Given the description of an element on the screen output the (x, y) to click on. 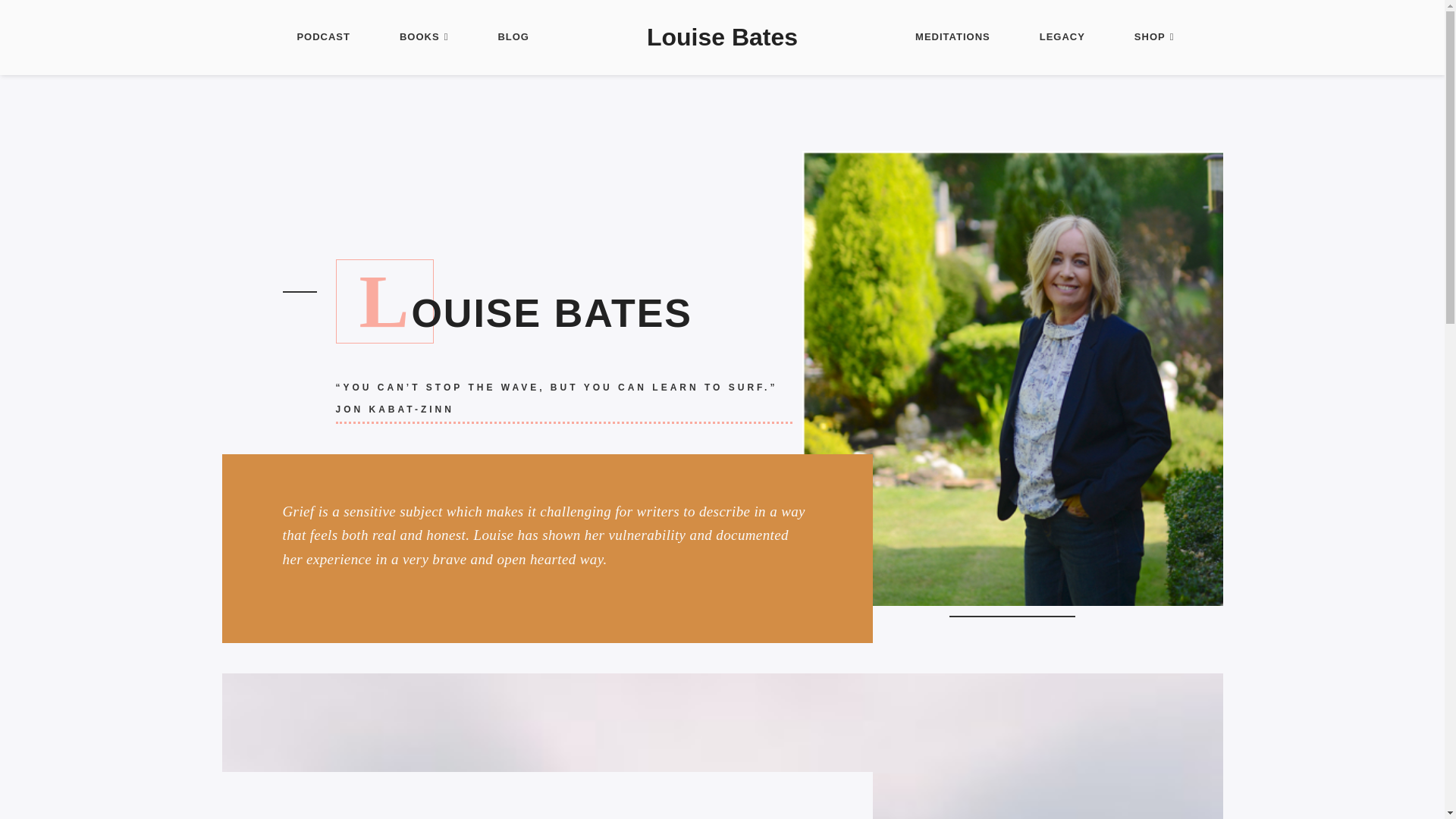
BOOKS (423, 37)
BLOG (513, 37)
PODCAST (323, 37)
LEGACY (1061, 37)
SHOP (1154, 37)
Louise Bates (721, 37)
MEDITATIONS (952, 37)
